Given the description of an element on the screen output the (x, y) to click on. 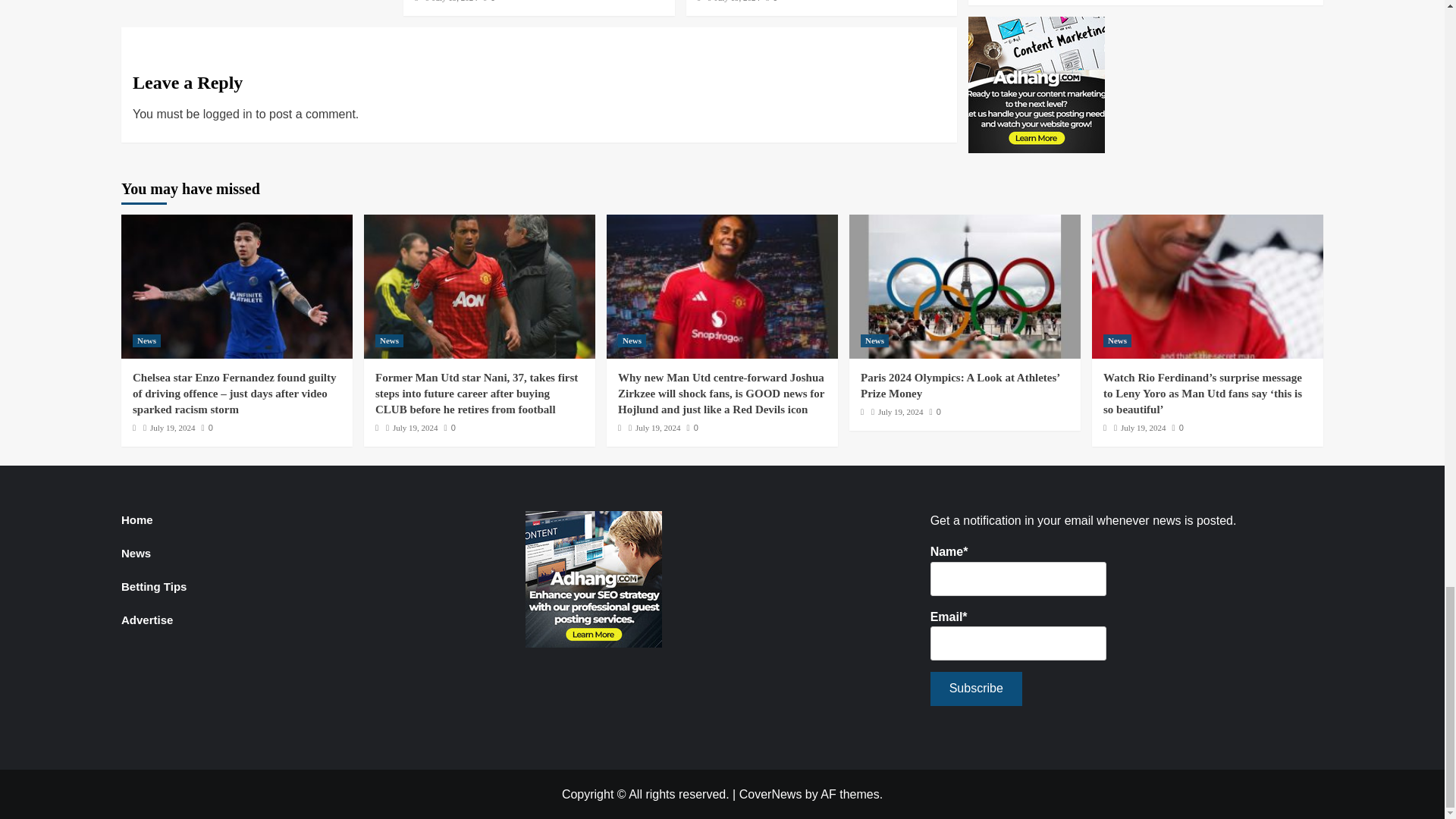
Subscribe (976, 688)
July 19, 2024 (454, 1)
